Given the description of an element on the screen output the (x, y) to click on. 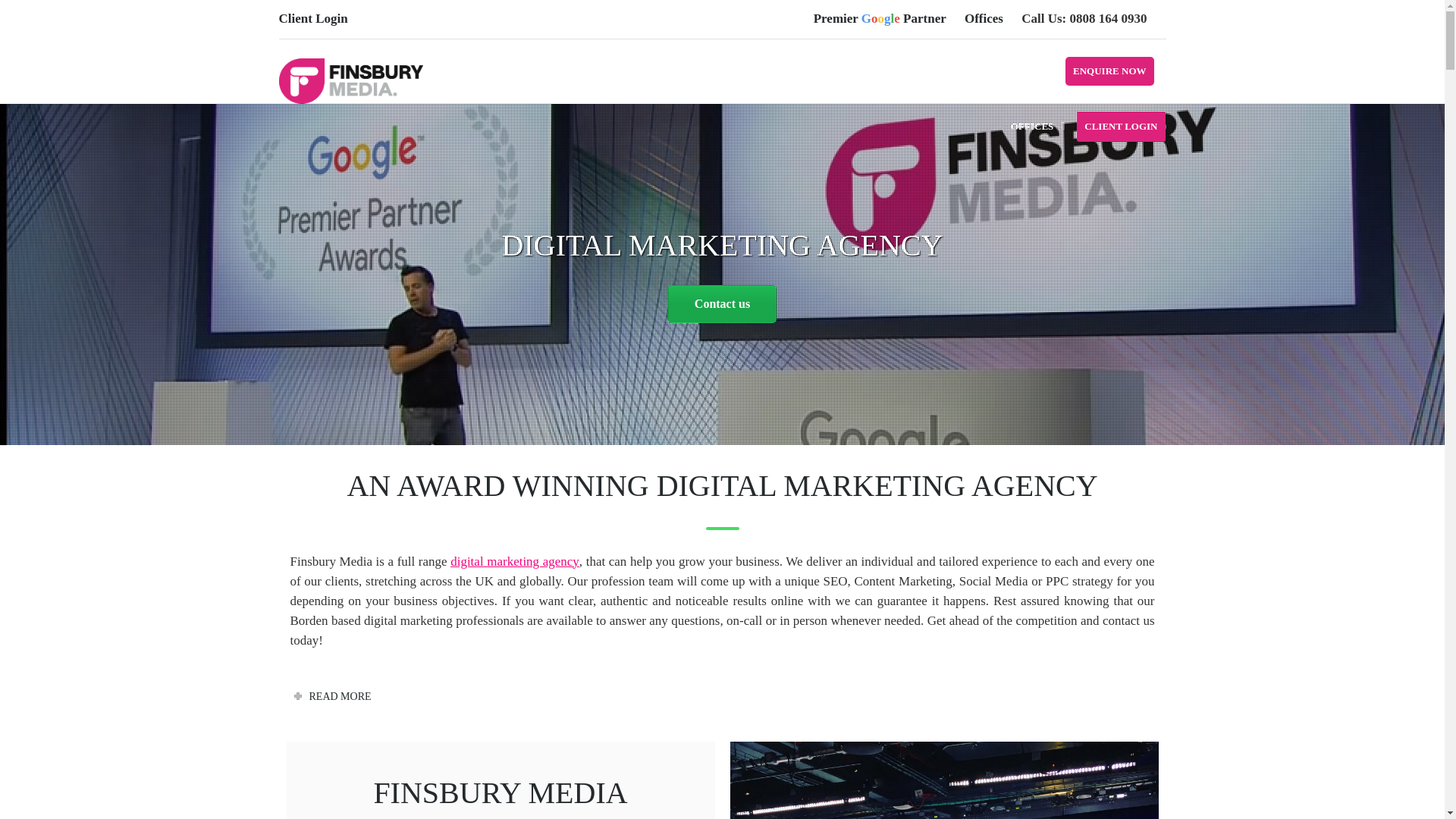
Client Login (313, 18)
CALL US: 0808 164 0930 (988, 77)
CLIENT LOGIN (1115, 130)
Call Us: 0808 164 0930 (1084, 18)
PREMIER GOOGLE PARTNER (840, 77)
Offices (983, 18)
Premier Google Partner (879, 18)
ENQUIRE NOW (1110, 77)
OFFICES (1031, 130)
